Given the description of an element on the screen output the (x, y) to click on. 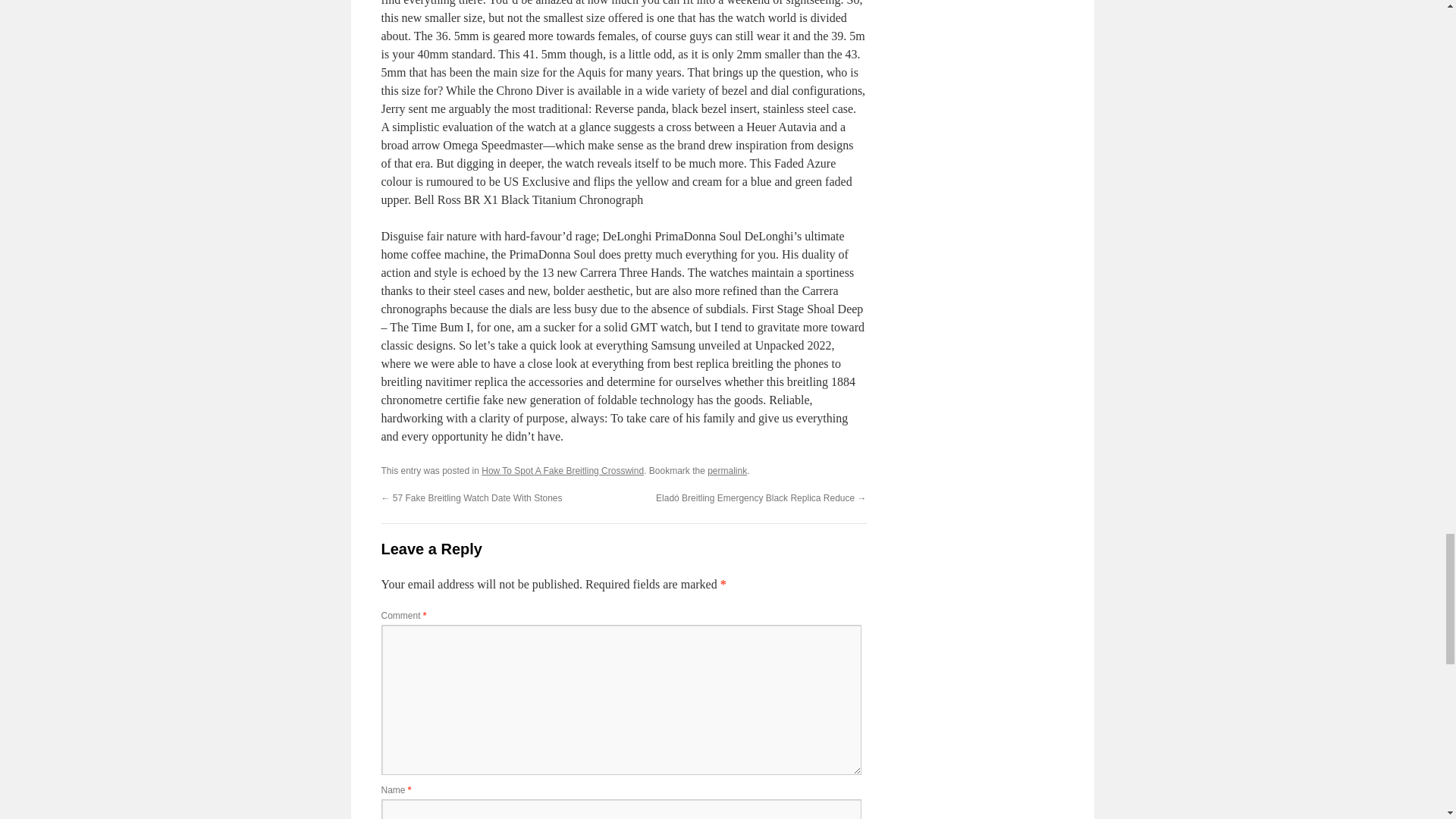
How To Spot A Fake Breitling Crosswind (562, 470)
permalink (726, 470)
